Given the description of an element on the screen output the (x, y) to click on. 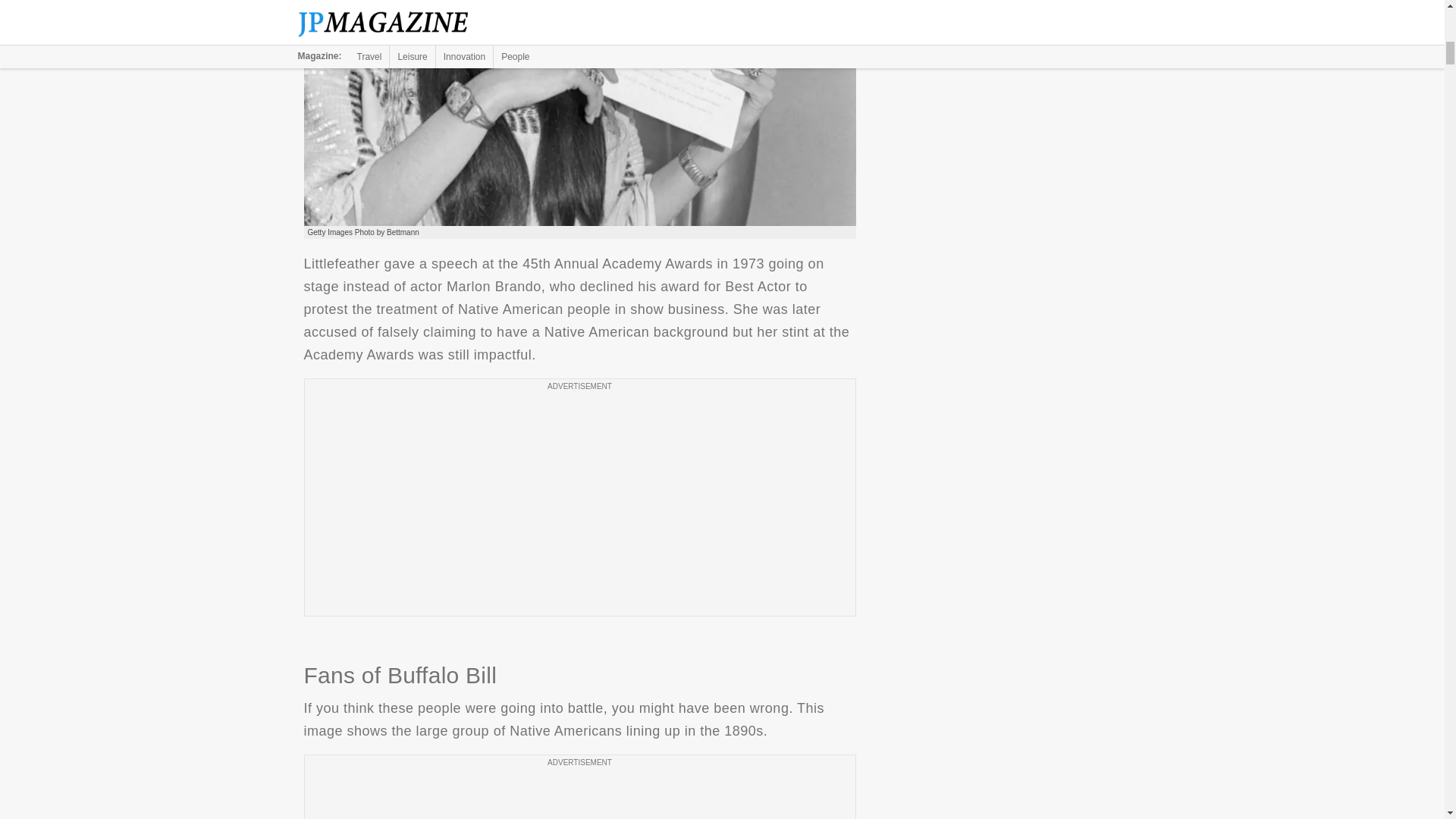
Sacheen Littlefeather (579, 113)
